Given the description of an element on the screen output the (x, y) to click on. 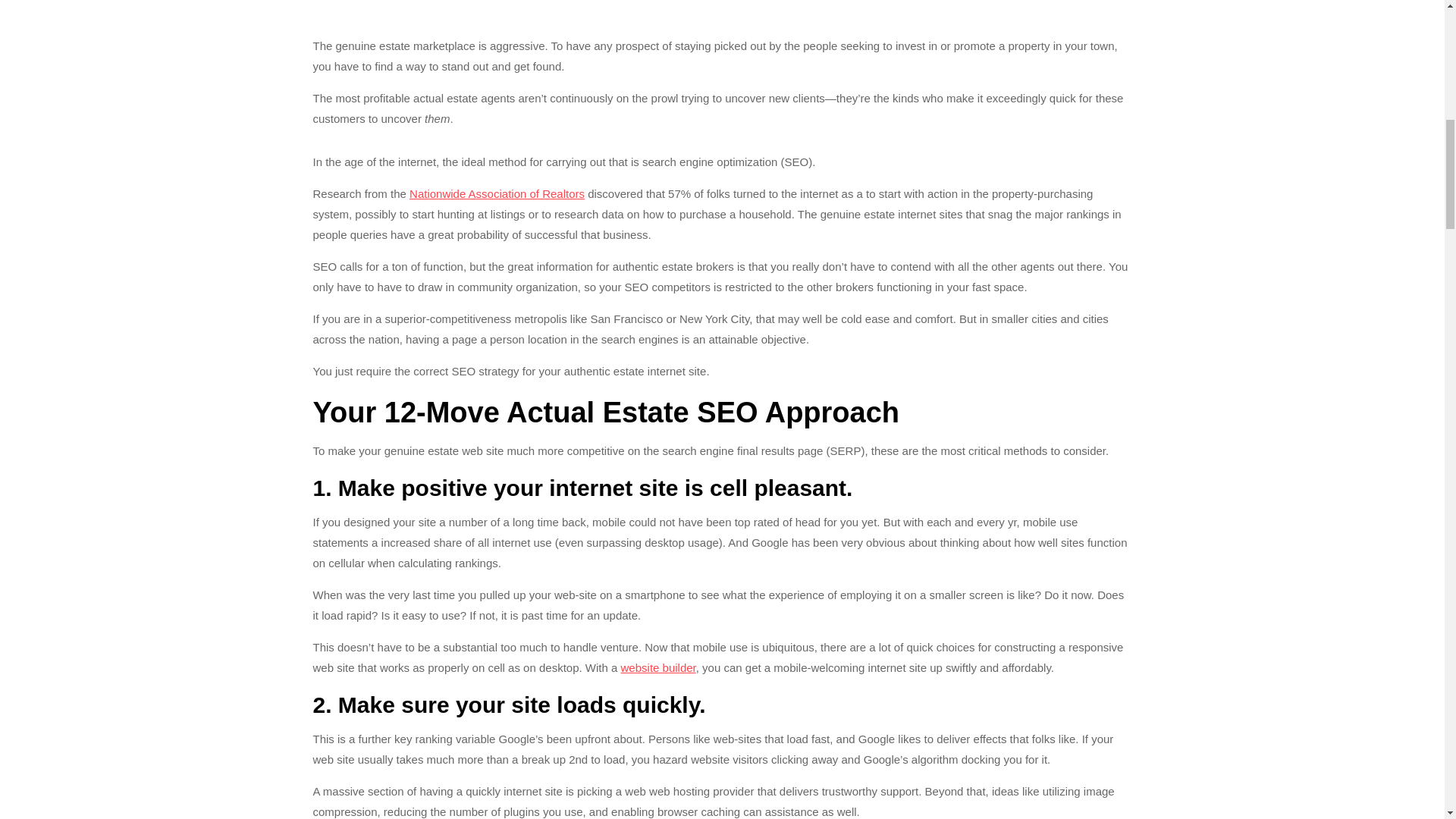
Nationwide Association of Realtors (497, 193)
website builder (658, 667)
